Given the description of an element on the screen output the (x, y) to click on. 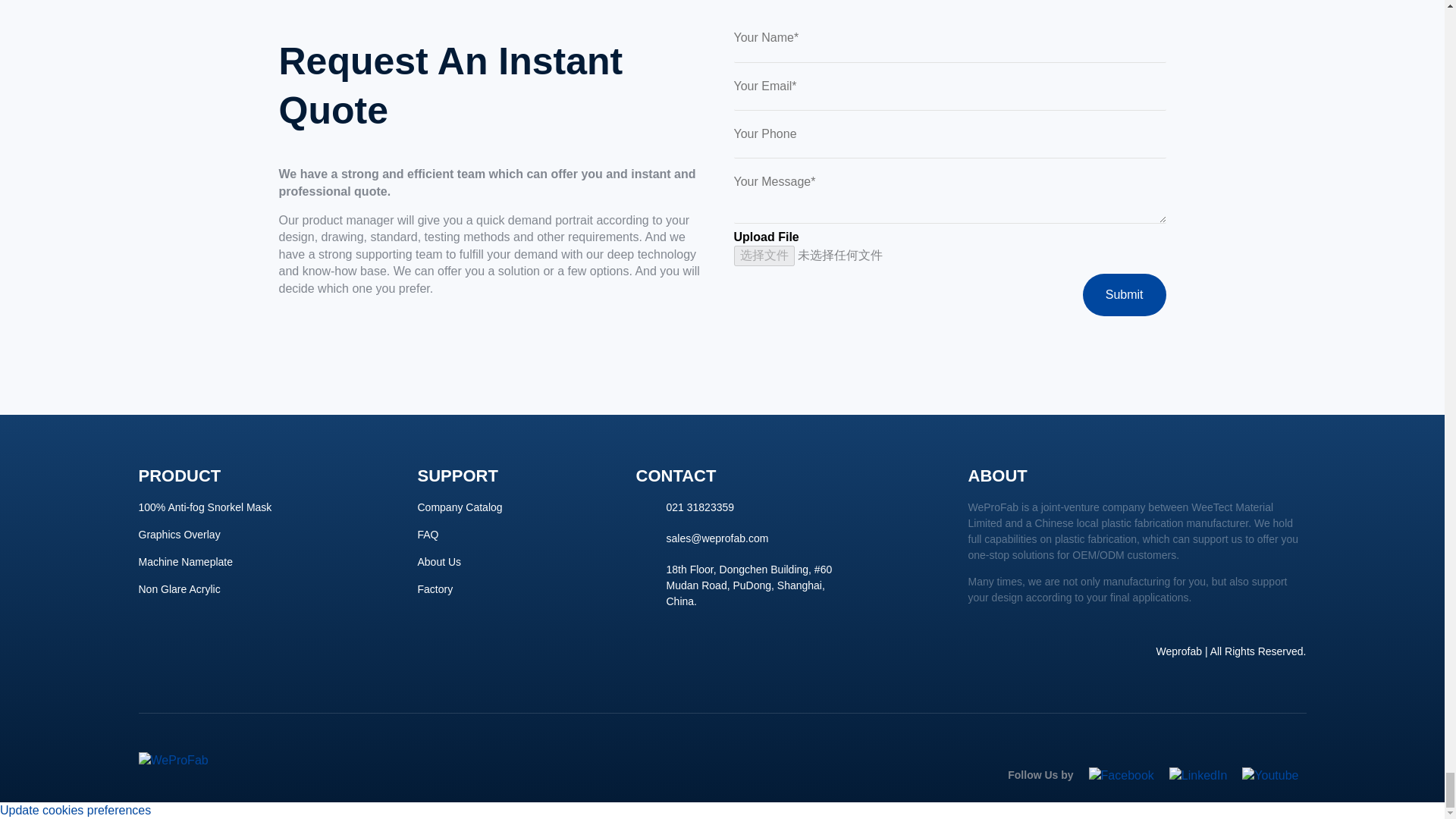
Submit (1124, 294)
